Given the description of an element on the screen output the (x, y) to click on. 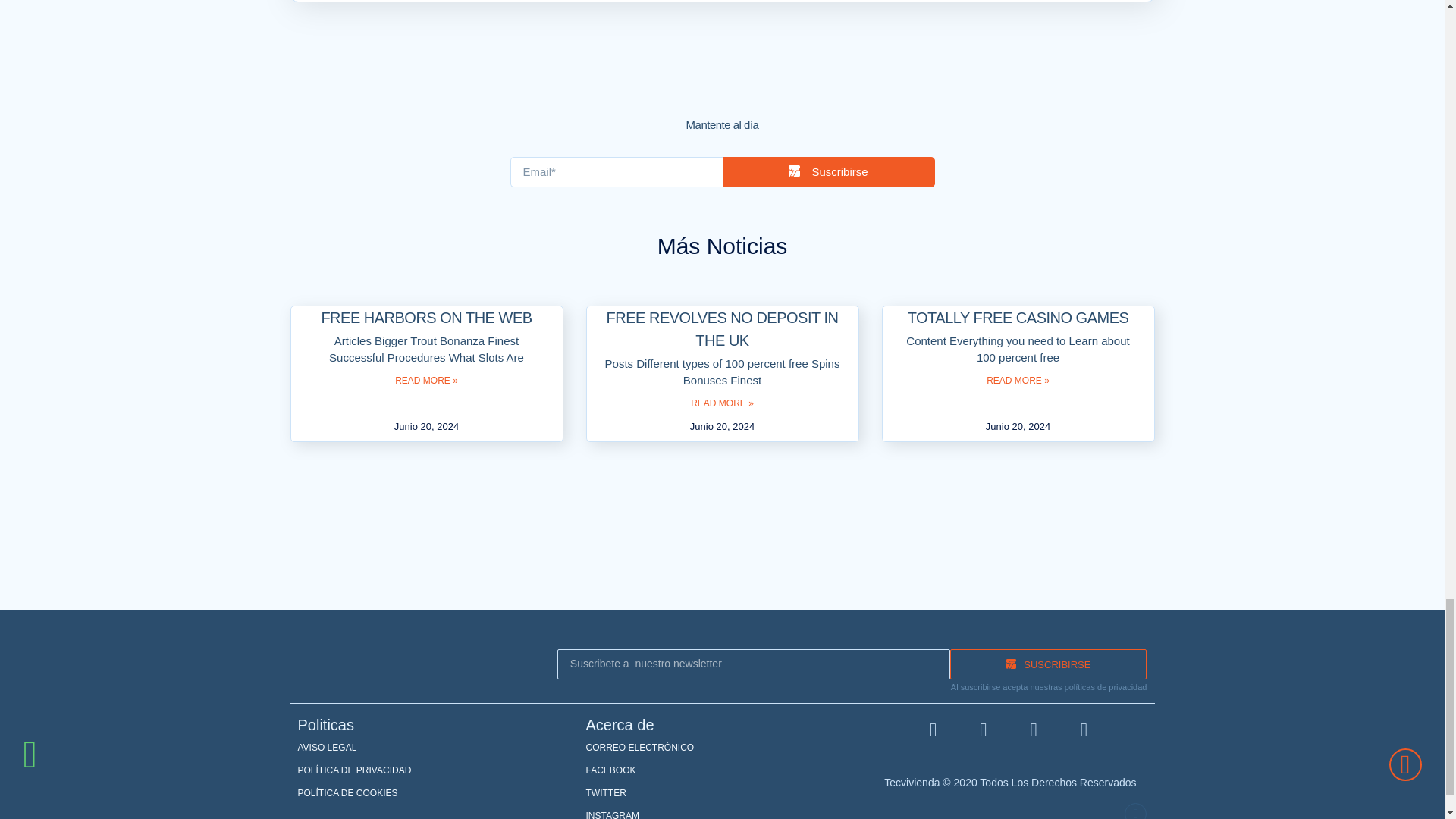
AVISO LEGAL (433, 747)
FREE REVOLVES NO DEPOSIT IN THE UK (722, 328)
FREE HARBORS ON THE WEB (425, 317)
TOTALLY FREE CASINO GAMES (1018, 317)
